Given the description of an element on the screen output the (x, y) to click on. 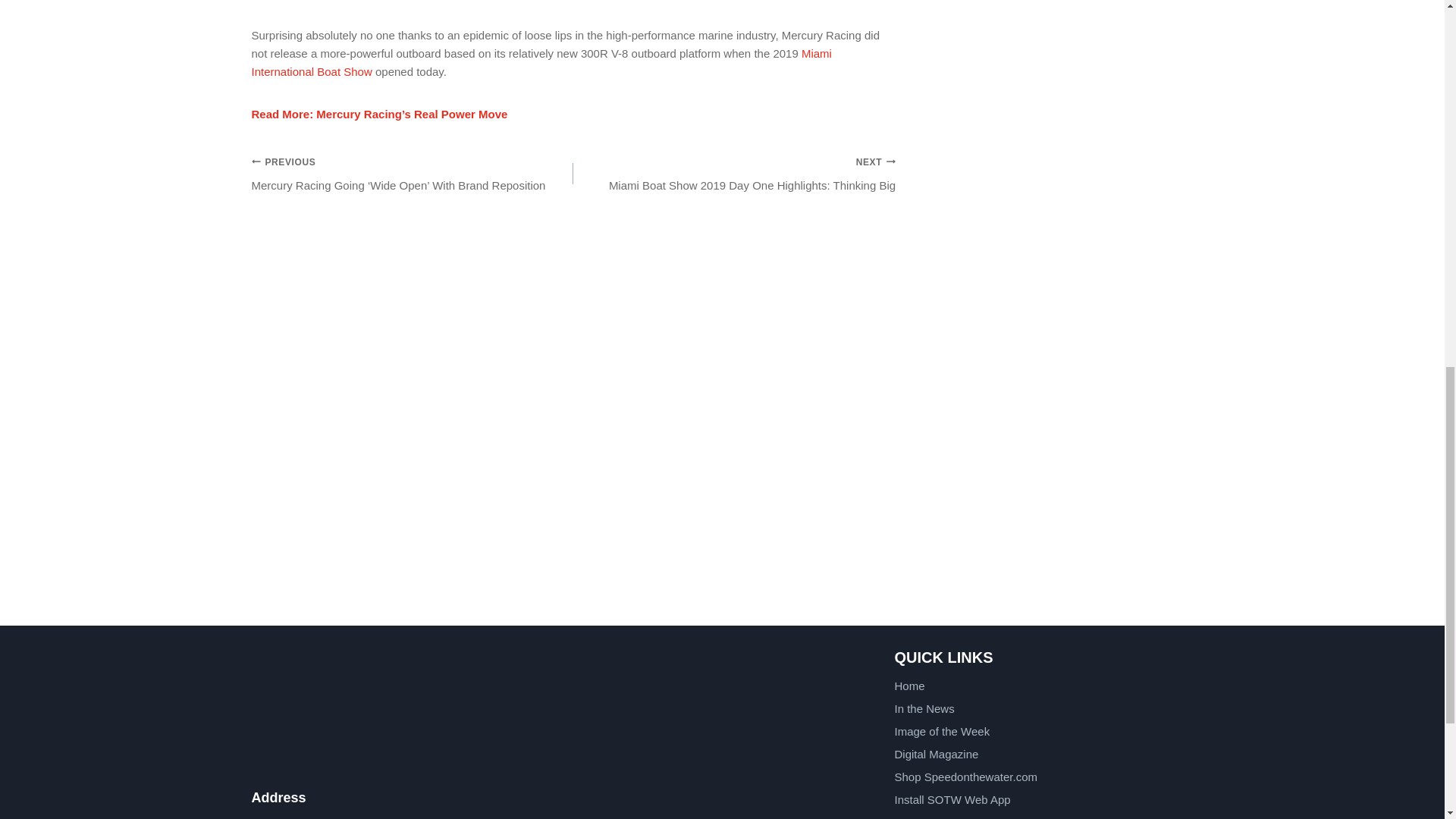
Miami International Boat Show (541, 61)
